Given the description of an element on the screen output the (x, y) to click on. 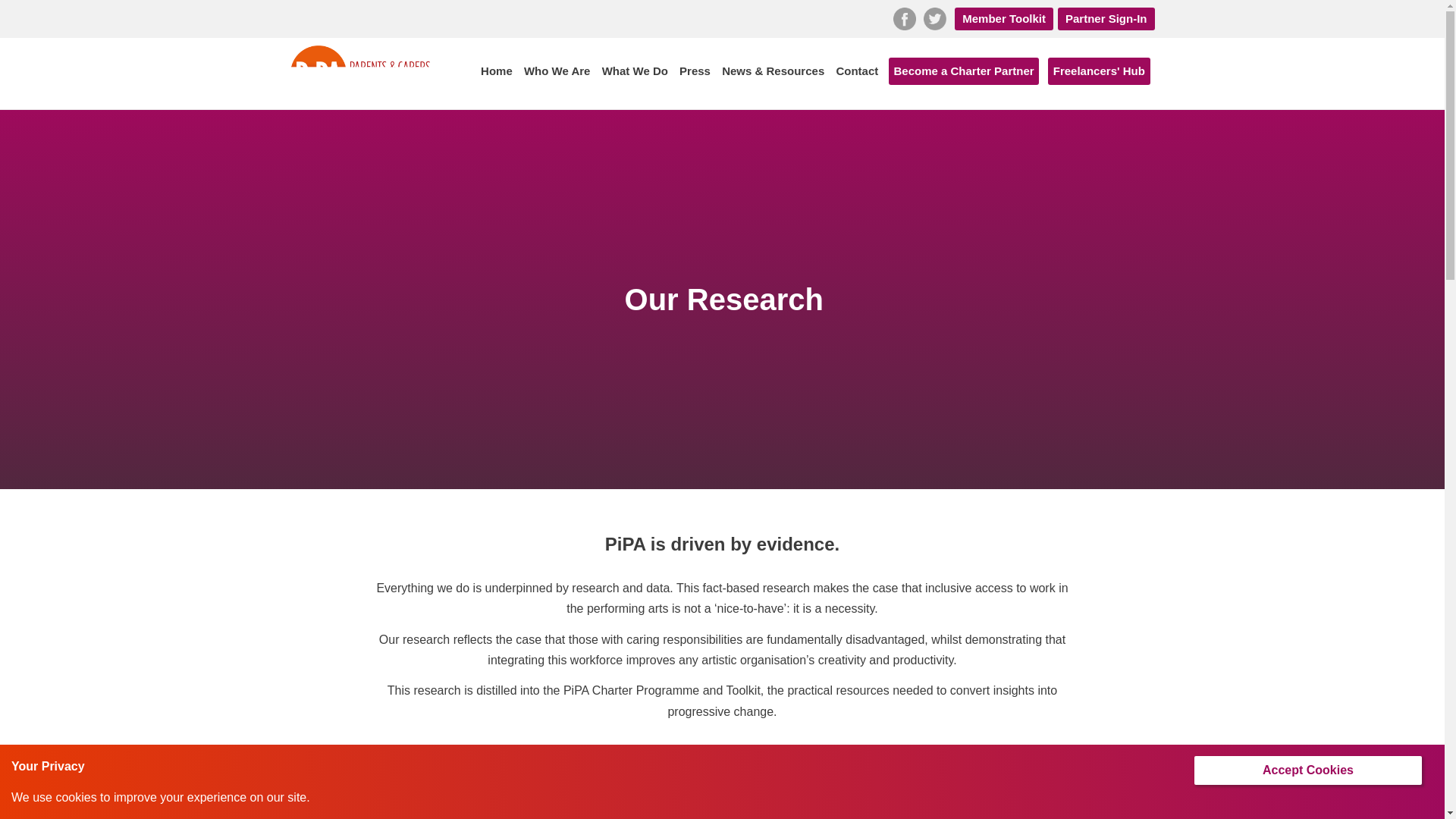
Member Toolkit (1003, 18)
Facebook (904, 18)
PiPA PUBLISH NEW DANCE RESEARCH (722, 803)
Follow us on Facebook (904, 18)
Contact (856, 70)
Freelancers' Hub (1099, 71)
Become a Charter Partner (963, 71)
Press (694, 70)
Partner Sign-In (1106, 18)
Follow us on Twitter (934, 18)
Home (496, 70)
Bittersweet Symphony (1017, 803)
Twitter (934, 18)
Balancing Act 2024 (426, 803)
